Given the description of an element on the screen output the (x, y) to click on. 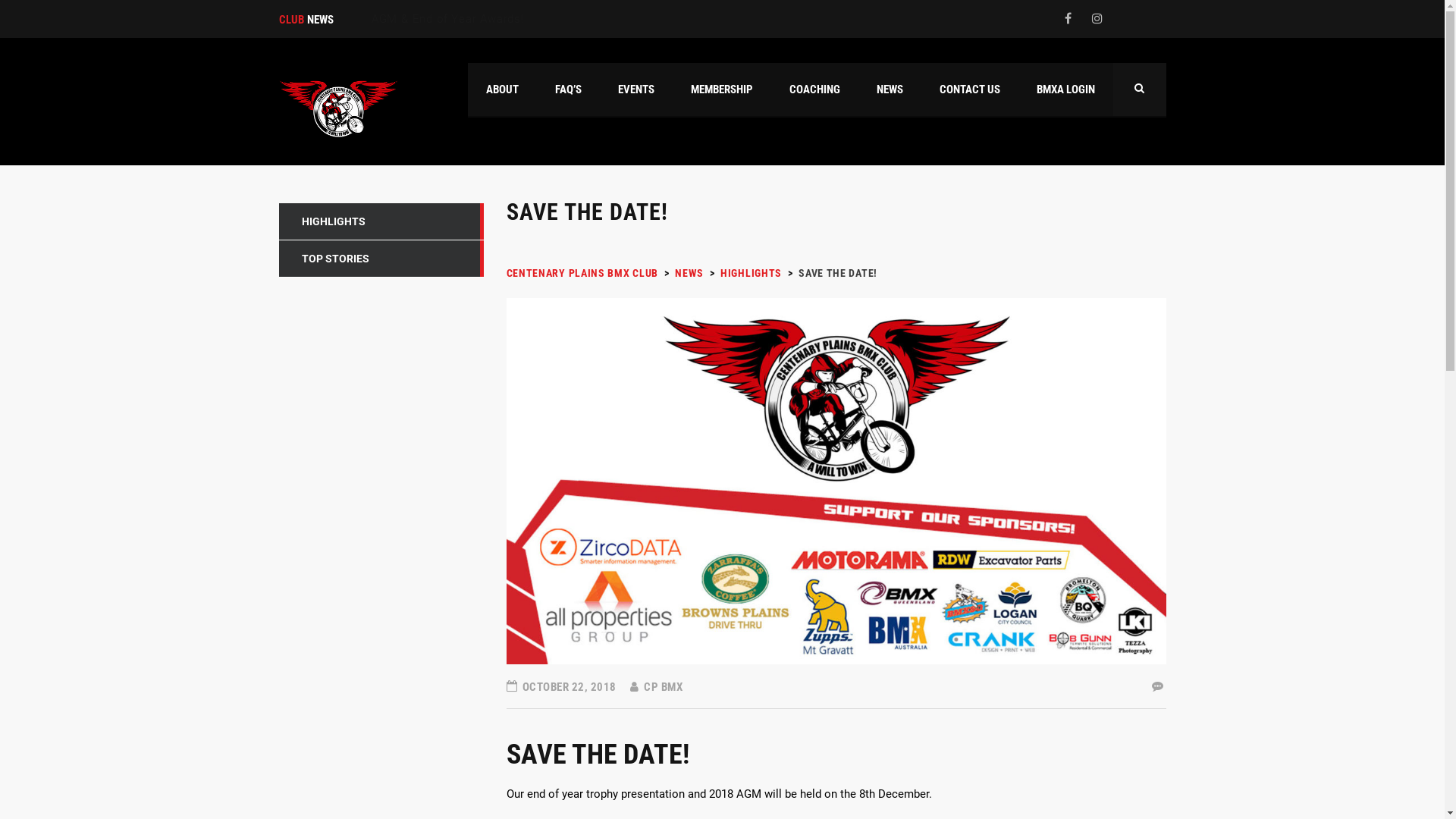
EVENTS Element type: text (635, 89)
BMXA LOGIN Element type: text (1064, 89)
CrankDigital Element type: text (516, 783)
NEWS Element type: text (889, 89)
HIGHLIGHTS Element type: text (750, 272)
ABOUT Element type: text (501, 89)
COACHING Element type: text (813, 89)
CONTACT US Element type: text (968, 89)
CENTENARY PLAINS BMX CLUB Element type: text (582, 272)
Home Element type: hover (338, 108)
MEMBERSHIP Element type: text (720, 89)
Trans Tasman Test Team! Element type: text (599, 591)
AGM & End of Year Awards! Element type: text (599, 651)
HIGHLIGHTS Element type: text (381, 221)
NEWS Element type: text (688, 272)
TOP STORIES Element type: text (381, 258)
